Given the description of an element on the screen output the (x, y) to click on. 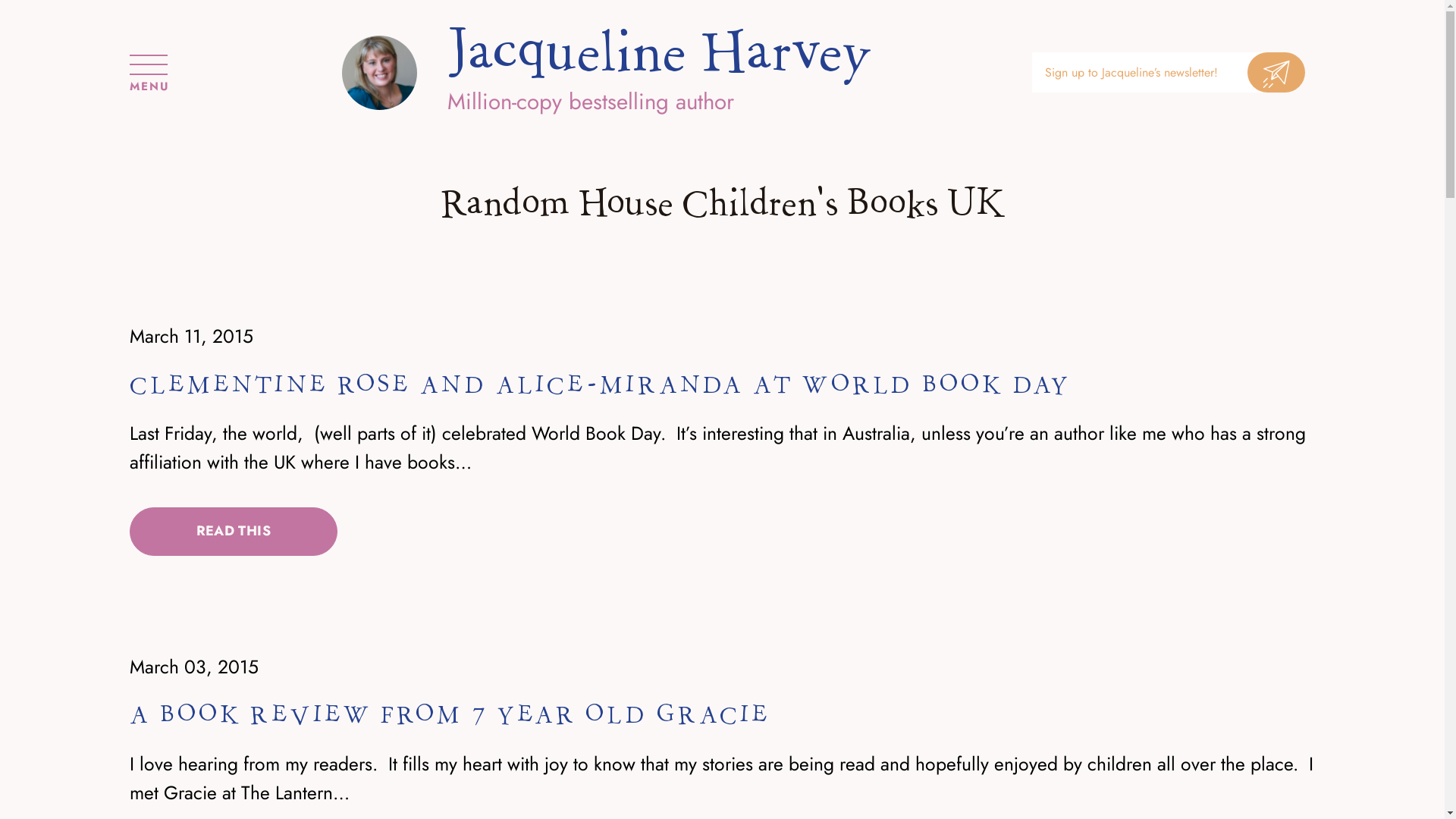
READ THIS Element type: text (233, 531)
CLEMENTINE ROSE AND ALICE-MIRANDA AT WORLD BOOK DAY Element type: text (599, 385)
Jacqueline Harvey Element type: text (659, 52)
A BOOK REVIEW FROM 7 YEAR OLD GRACIE Element type: text (450, 715)
Jacqueline Harvey Element type: hover (379, 72)
